Given the description of an element on the screen output the (x, y) to click on. 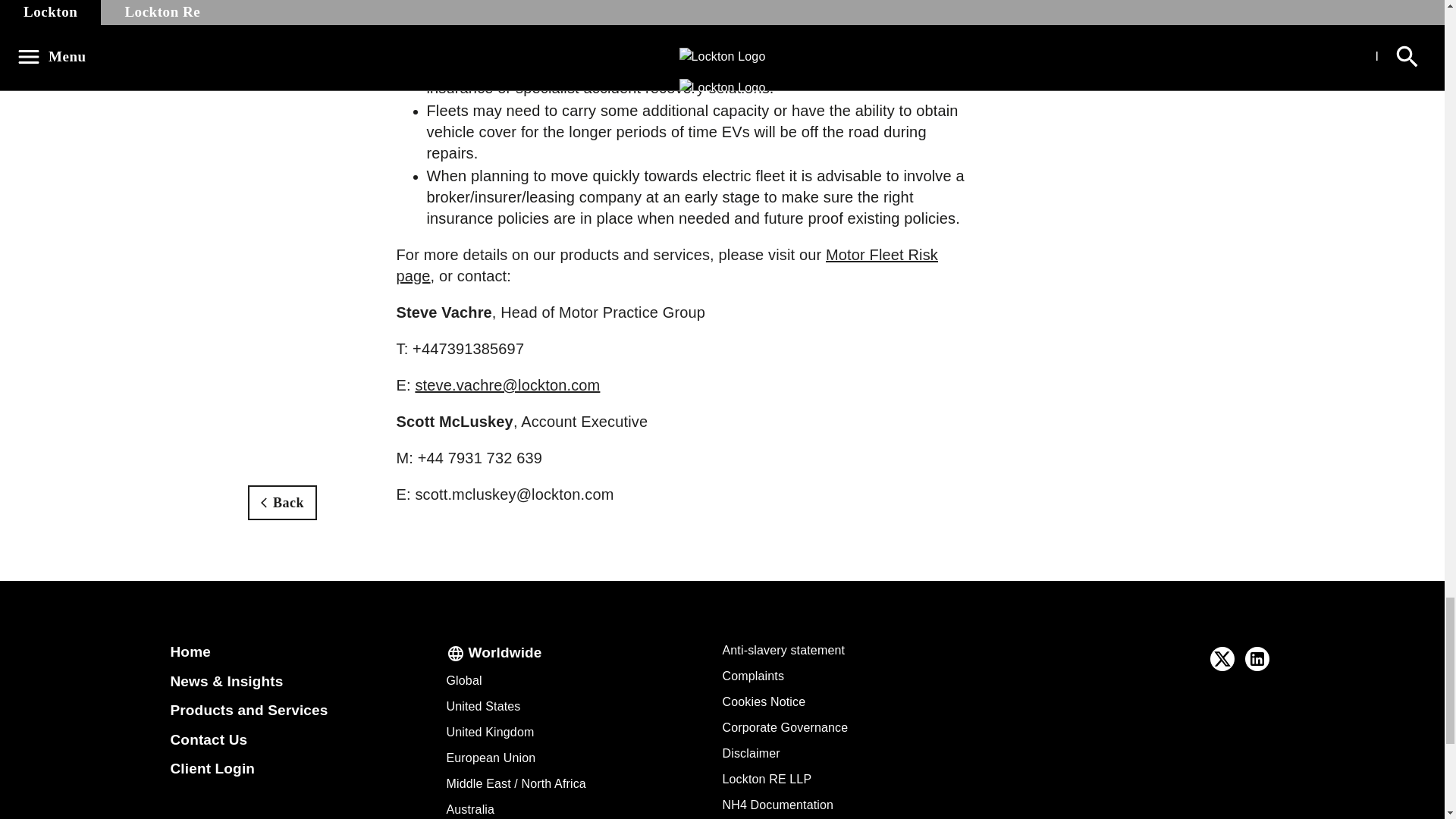
Products and Services (248, 709)
Lockton RE LLP (766, 779)
Follow Lockton on Twitter (1221, 658)
Cookies Notice (763, 701)
Corporate Governance (784, 727)
United States (482, 706)
NH4 Documentation (777, 804)
Global (463, 680)
Home (189, 651)
Client Login (212, 768)
